Given the description of an element on the screen output the (x, y) to click on. 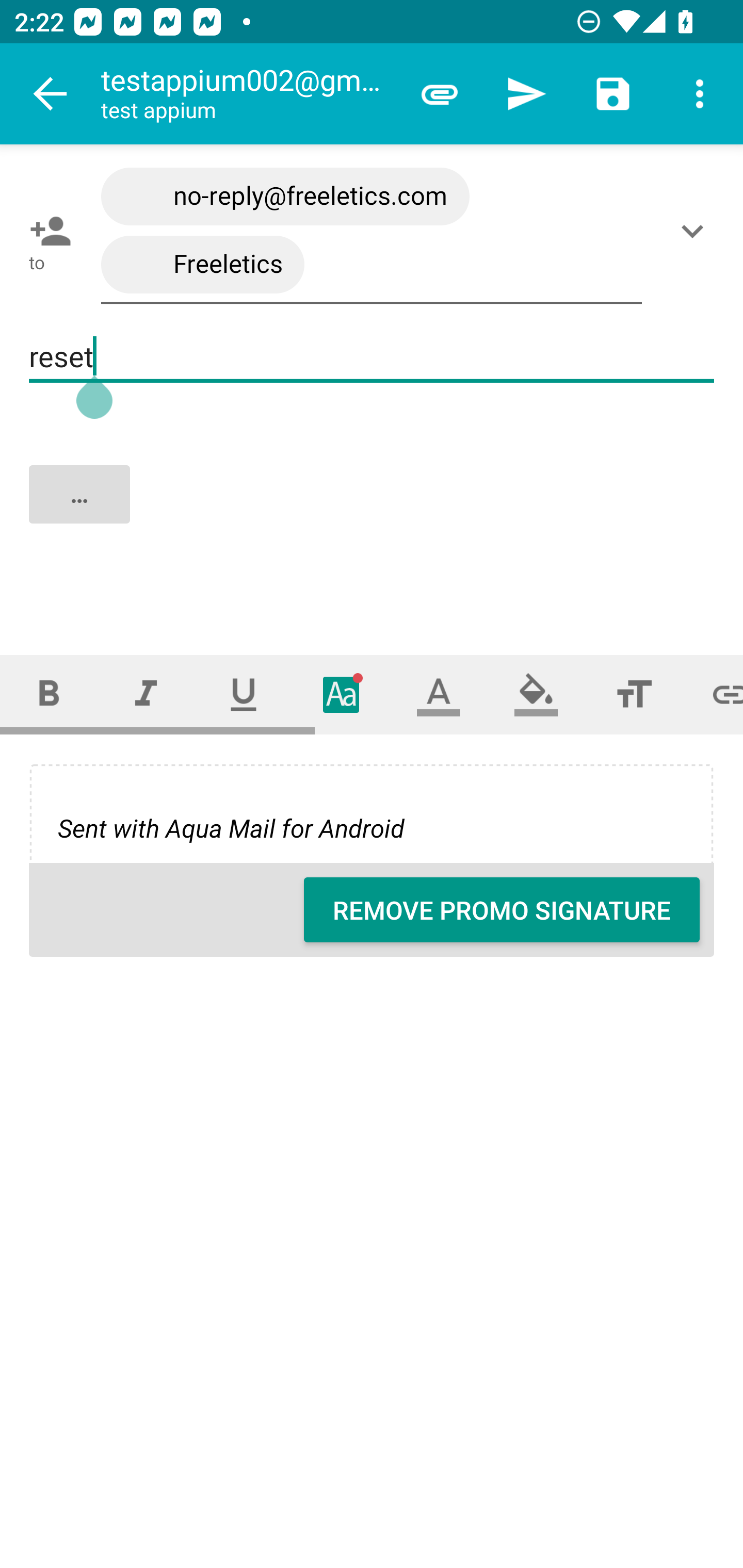
Navigate up (50, 93)
testappium002@gmail.com test appium (248, 93)
Attach (439, 93)
Send (525, 93)
Save (612, 93)
More options (699, 93)
Pick contact: To (46, 231)
Show/Add CC/BCC (696, 231)
reset (371, 356)

…
 (372, 511)
Bold (48, 694)
Italic (145, 694)
Underline (243, 694)
Typeface (font) (341, 694)
Text color (438, 694)
Fill color (536, 694)
Font size (633, 694)
REMOVE PROMO SIGNATURE (501, 910)
